Given the description of an element on the screen output the (x, y) to click on. 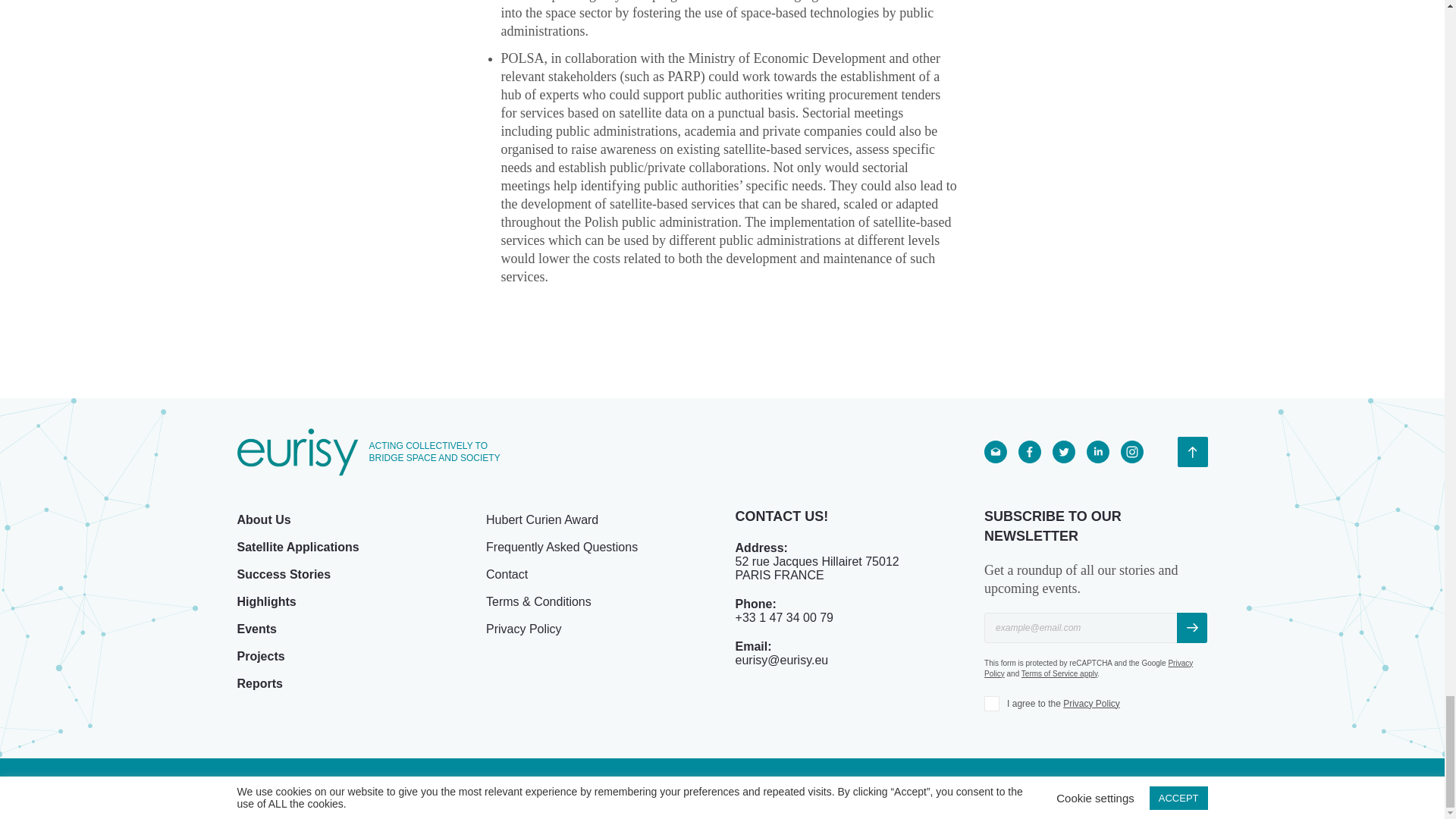
Hubert Curien Award (542, 520)
Reports (258, 684)
Privacy Policy (1088, 668)
Satellite Applications (296, 547)
Terms of Service apply (1059, 673)
Events (255, 629)
About Us (262, 520)
Projects (259, 656)
Highlights (265, 602)
ACTING COLLECTIVELY TO BRIDGE SPACE AND SOCIETY (375, 451)
Contact (506, 574)
Privacy Policy (524, 629)
Frequently Asked Questions (561, 547)
Success Stories (282, 574)
